Given the description of an element on the screen output the (x, y) to click on. 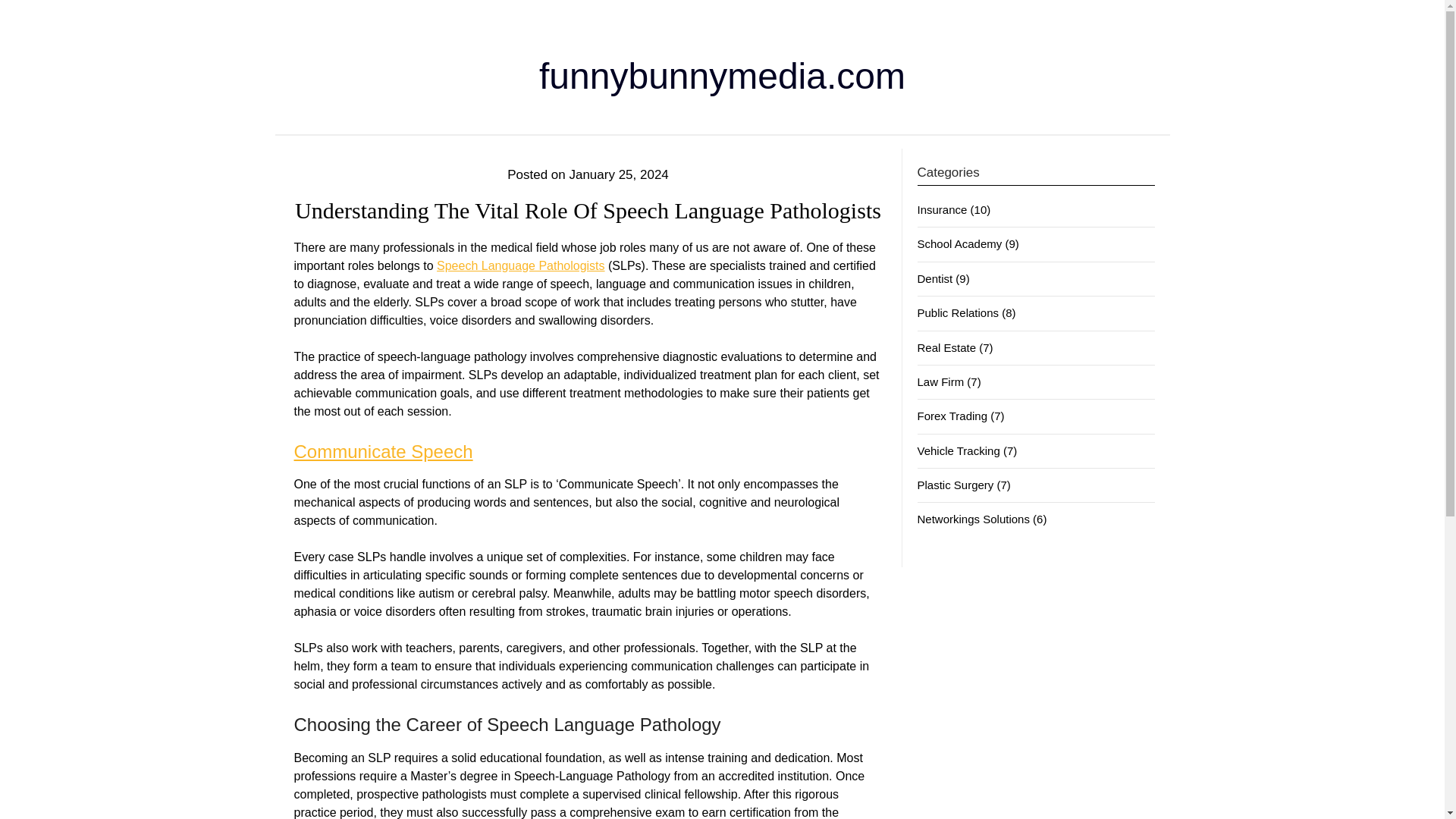
Speech Language Pathologists (520, 265)
Communicate Speech (383, 451)
January 25, 2024 (618, 174)
funnybunnymedia.com (721, 76)
